Given the description of an element on the screen output the (x, y) to click on. 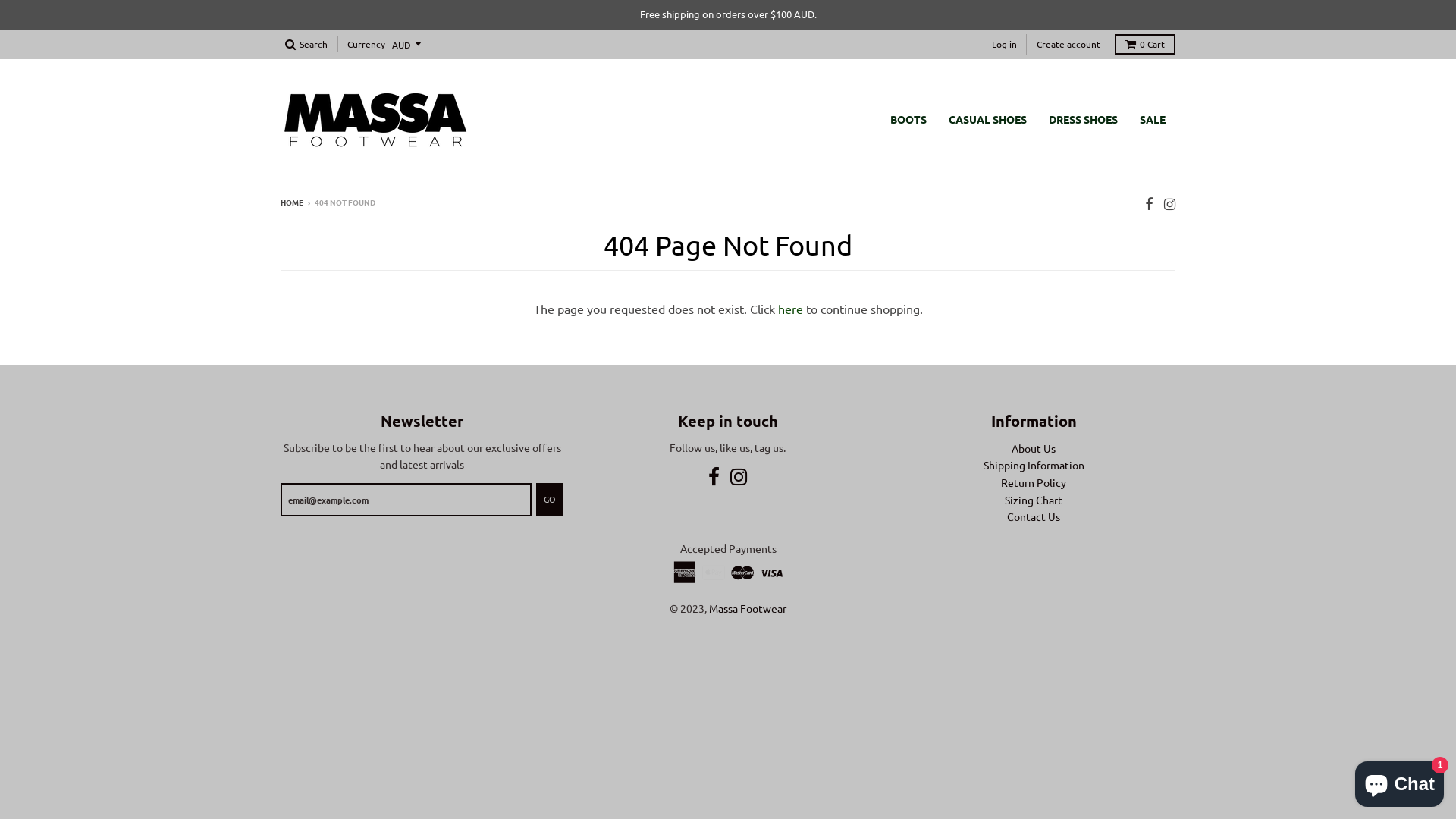
Return Policy Element type: text (1033, 482)
Log in Element type: text (1004, 44)
Massa Footwear Element type: text (747, 608)
GO Element type: text (549, 499)
DRESS SHOES Element type: text (1082, 118)
Shipping Information Element type: text (1033, 464)
Massa Footwear on Facebook Element type: hover (713, 477)
Massa Footwear on Instagram Element type: hover (738, 477)
Search Element type: text (306, 44)
CASUAL SHOES Element type: text (987, 118)
SALE Element type: text (1152, 118)
Sizing Chart Element type: text (1033, 499)
Contact Us Element type: text (1033, 516)
BOOTS Element type: text (908, 118)
Shopify online store chat Element type: hover (1399, 780)
0 Cart Element type: text (1144, 44)
Massa Footwear on Instagram Element type: hover (1169, 203)
HOME Element type: text (291, 201)
About Us Element type: text (1033, 448)
Create account Element type: text (1068, 44)
here Element type: text (790, 308)
Massa Footwear on Facebook Element type: hover (1149, 203)
- Element type: text (727, 624)
